Given the description of an element on the screen output the (x, y) to click on. 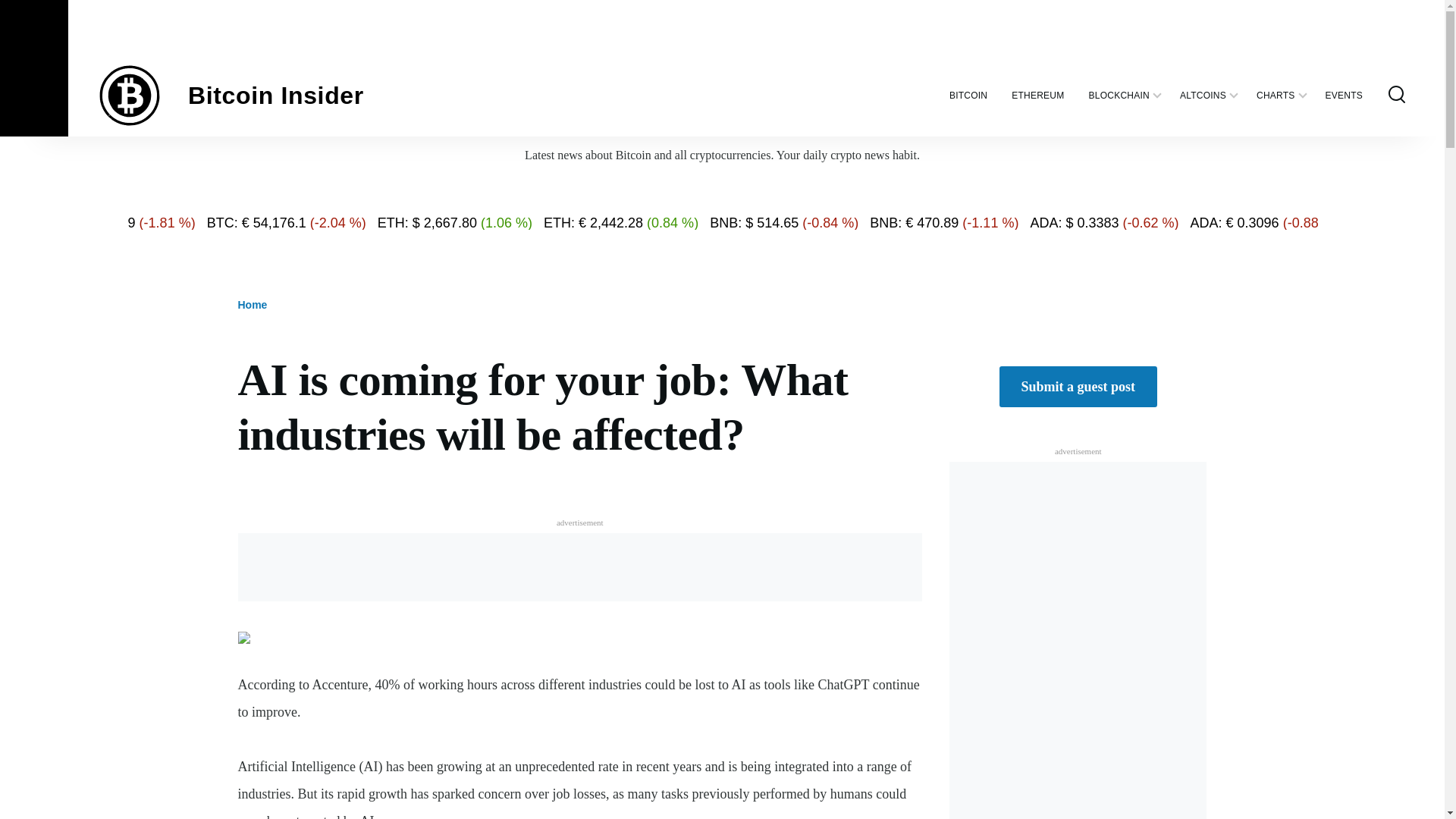
Skip to main content (595, 6)
Home (275, 94)
Bitcoin Insider (275, 94)
